Given the description of an element on the screen output the (x, y) to click on. 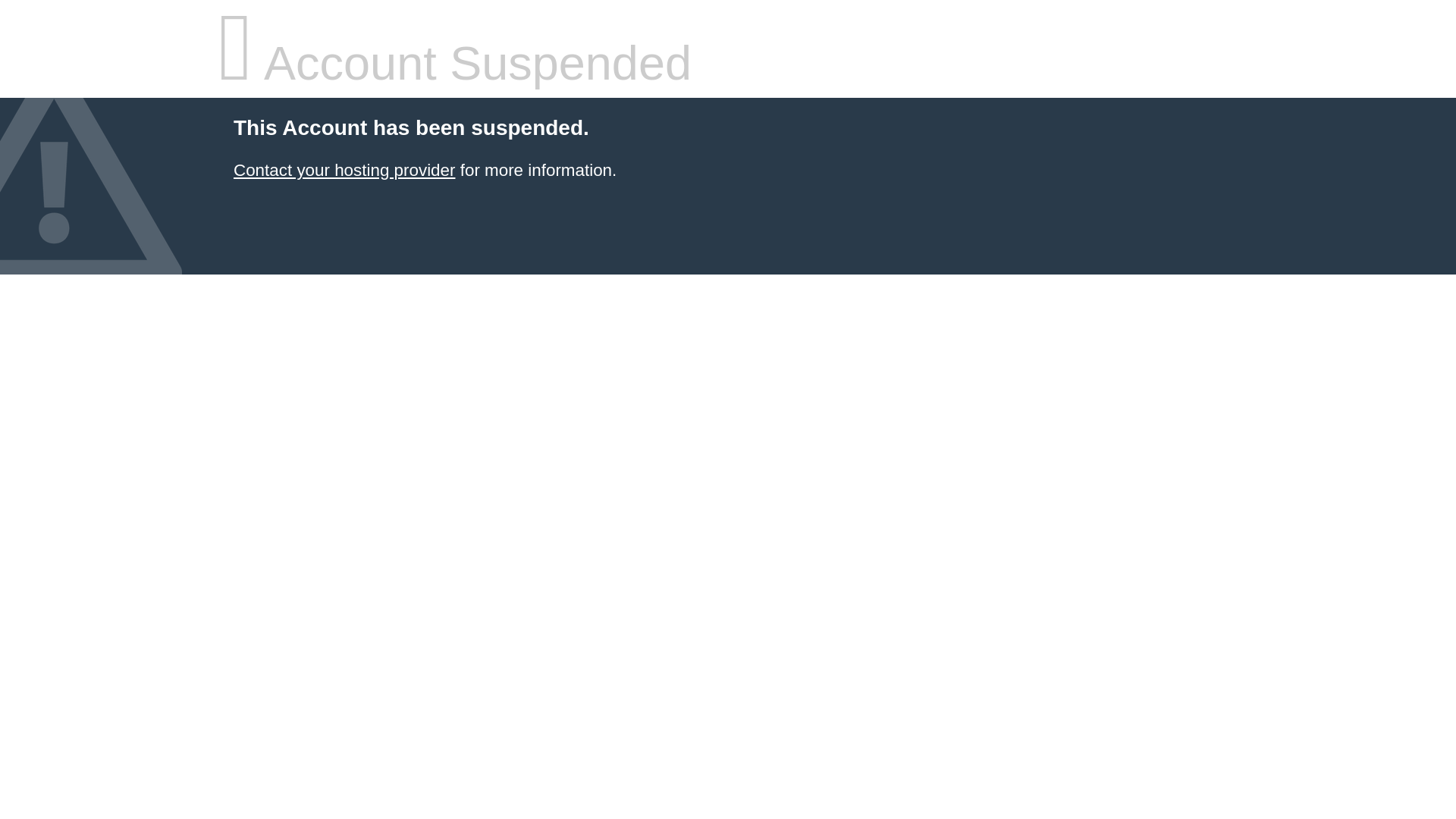
Contact your hosting provider (343, 169)
